Given the description of an element on the screen output the (x, y) to click on. 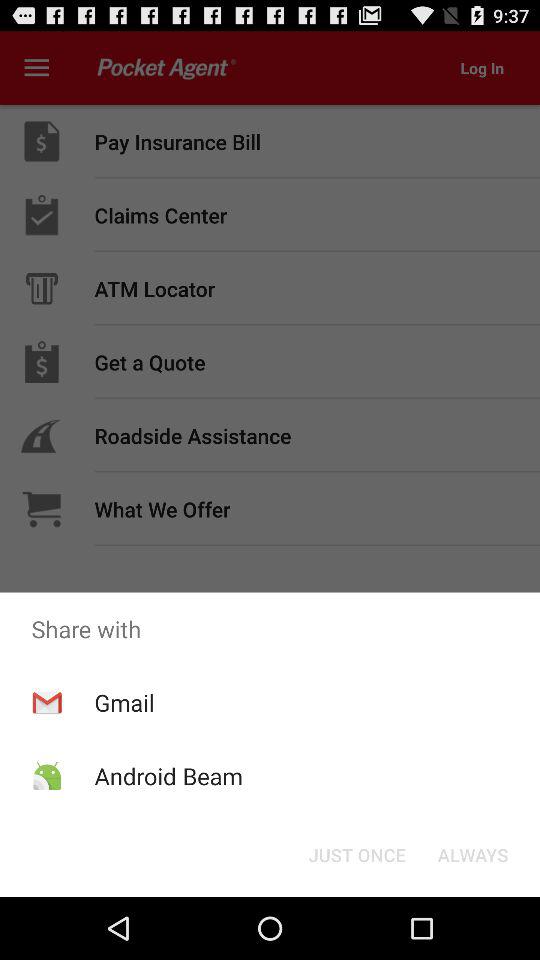
scroll until the android beam app (168, 775)
